Given the description of an element on the screen output the (x, y) to click on. 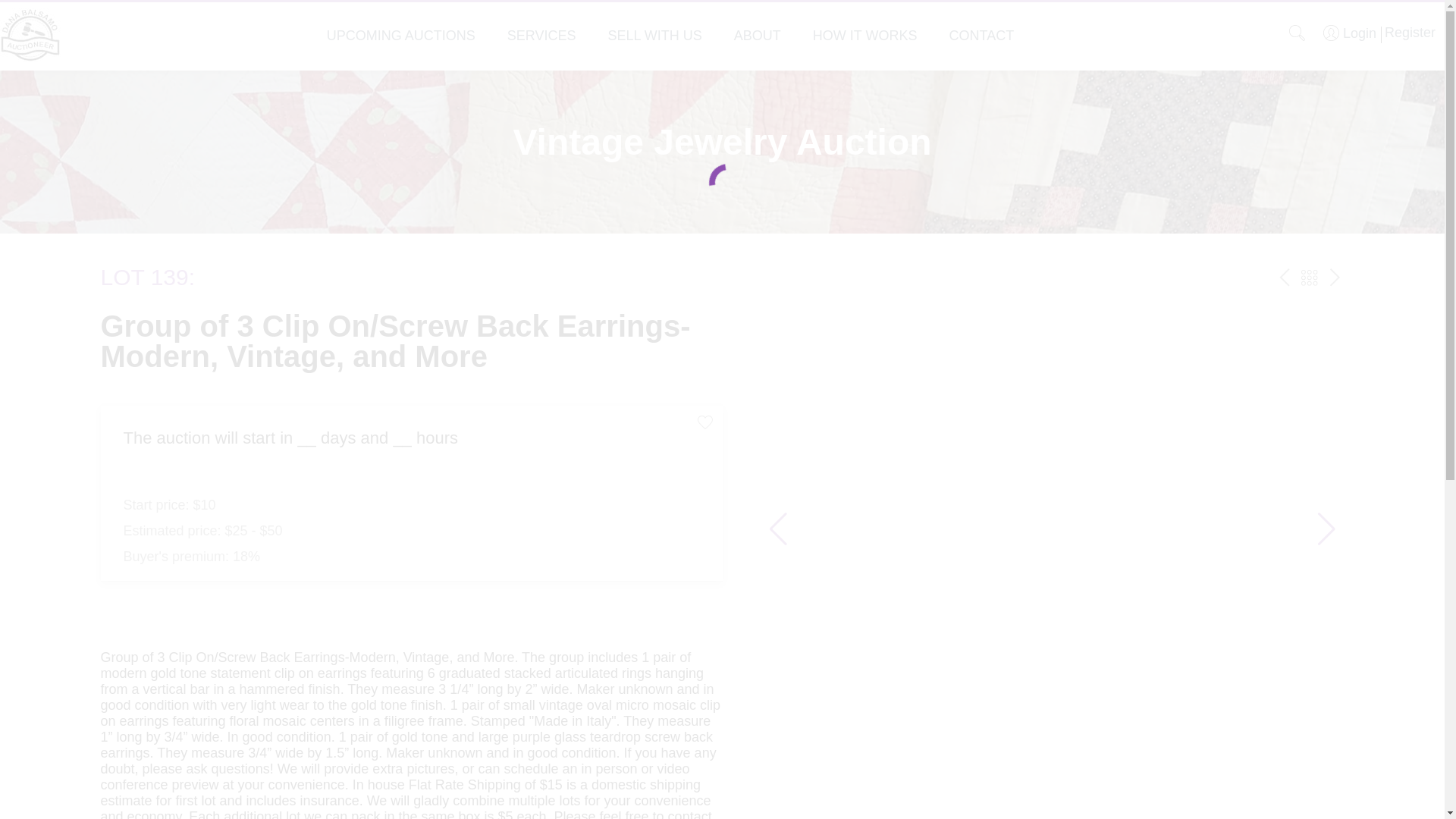
CONTACT (981, 35)
PREV (1284, 277)
ABOUT (757, 35)
HOW IT WORKS (865, 35)
SERVICES (542, 35)
VINTAGE JEWELRY AUCTION (1309, 277)
Login (1349, 32)
Register (1407, 32)
SELL WITH US (654, 35)
UPCOMING AUCTIONS (400, 35)
